Given the description of an element on the screen output the (x, y) to click on. 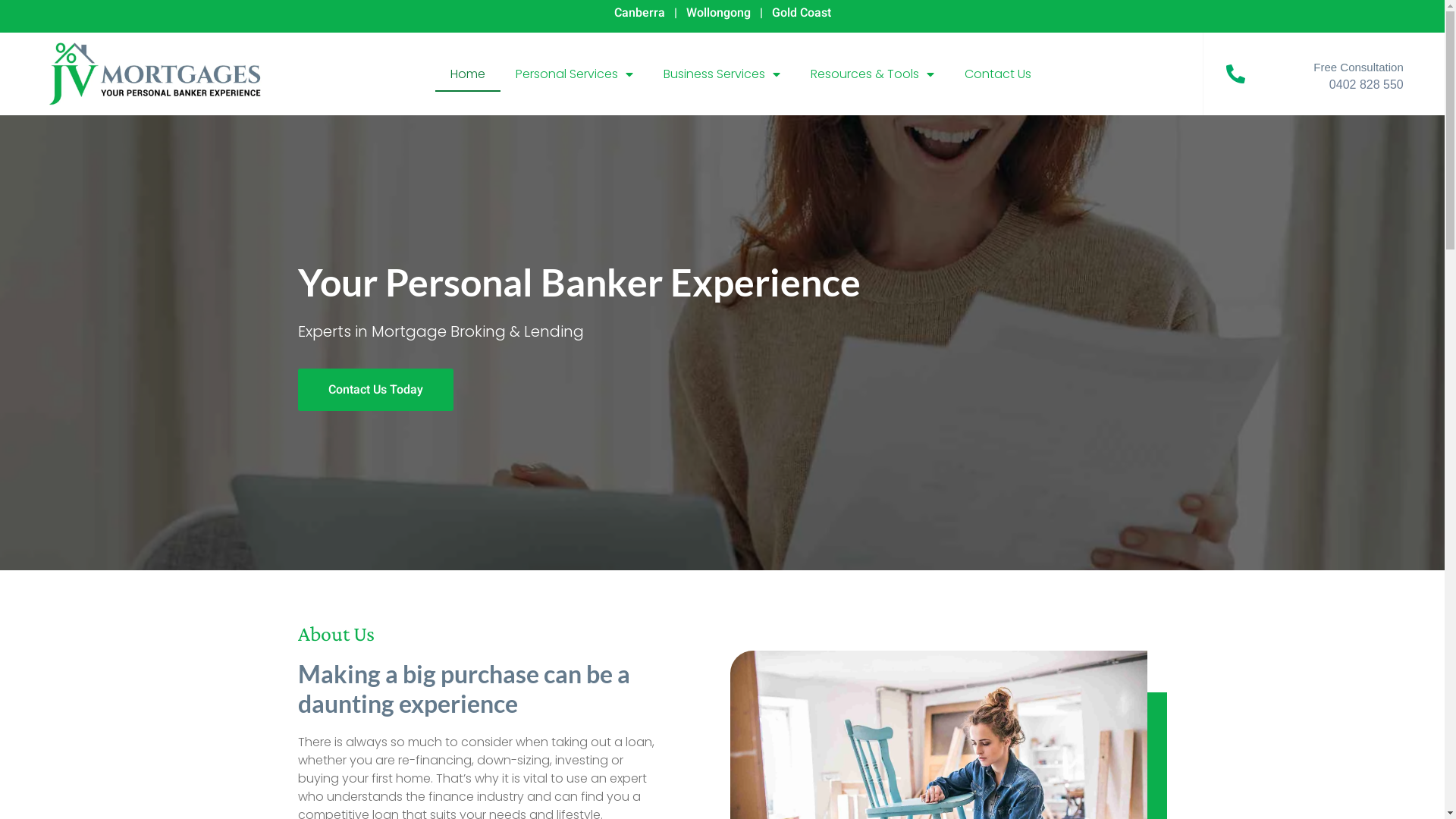
Free Consultation Element type: text (1357, 66)
Business Services Element type: text (721, 73)
Personal Services Element type: text (574, 73)
Resources & Tools Element type: text (872, 73)
Contact Us Today Element type: text (374, 389)
Home Element type: text (467, 73)
Contact Us Element type: text (997, 73)
